Given the description of an element on the screen output the (x, y) to click on. 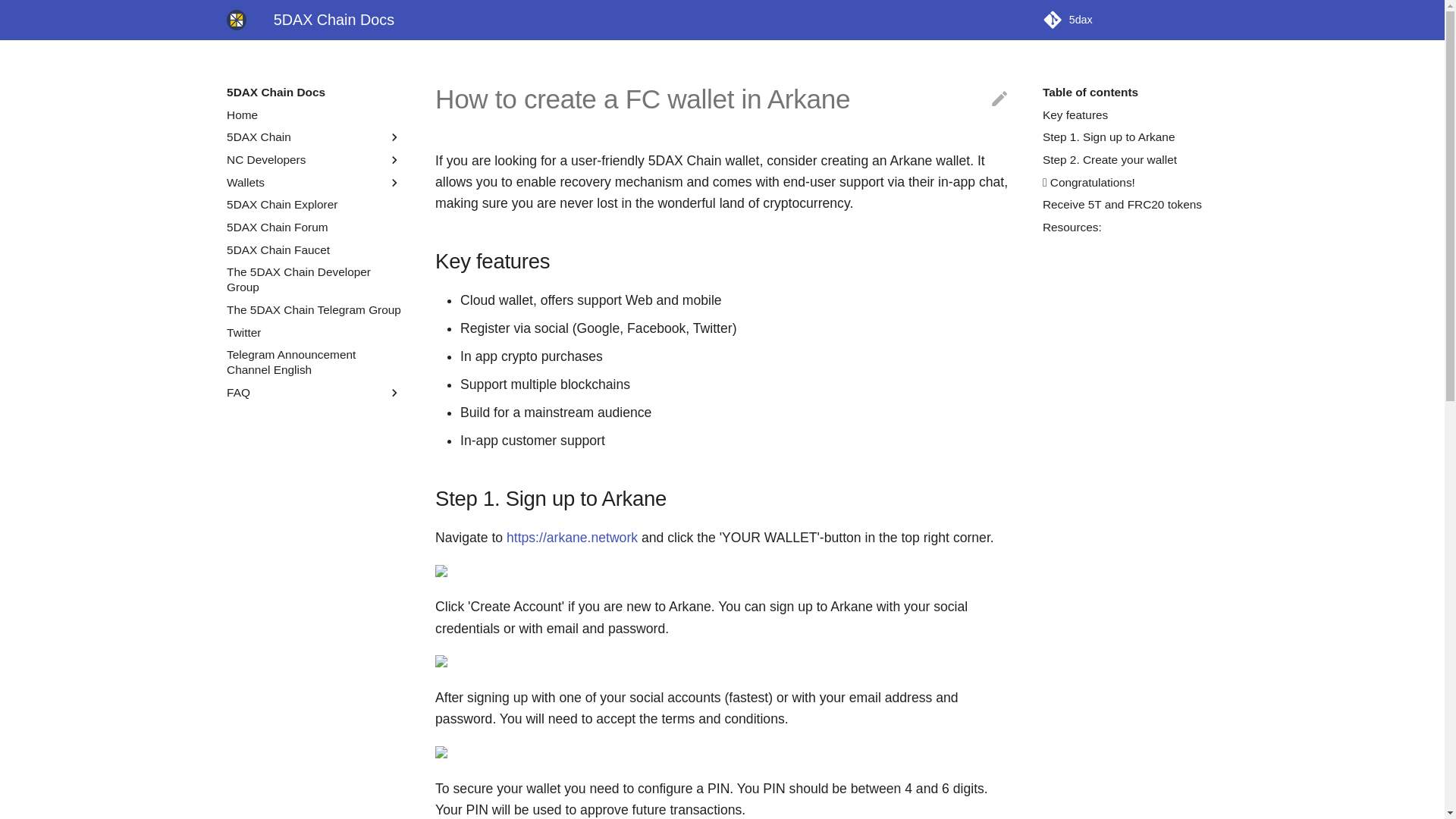
Go to repository (1129, 20)
5DAX Chain Docs (236, 19)
Edit this page (999, 98)
Home (314, 114)
5dax (1129, 20)
